Given the description of an element on the screen output the (x, y) to click on. 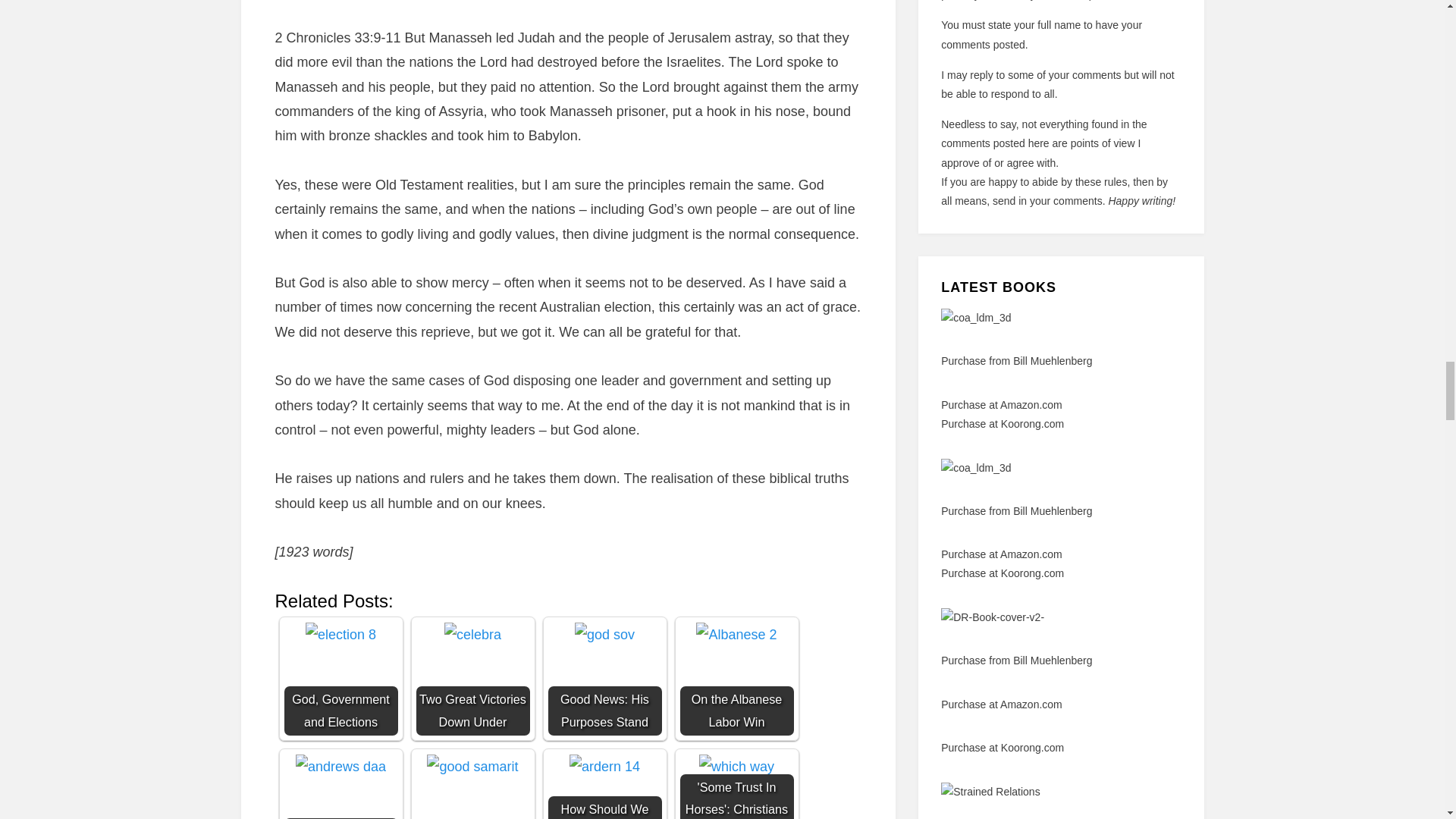
The Victorian Election (340, 786)
'Some Trust In Horses': Christians and Conservative Politics (736, 786)
On the Albanese Labor Win (735, 634)
Good News: His Purposes Stand (604, 634)
Good News: His Purposes Stand (604, 678)
Two Great Victories Down Under (471, 678)
'Some Trust In Horses': Christians and Conservative Politics (736, 766)
On Intervention (472, 766)
Two Great Victories Down Under (472, 634)
God, Government and Elections (340, 634)
The Victorian Election (340, 766)
On the Albanese Labor Win (736, 678)
God, Government and Elections (340, 678)
On Intervention (471, 786)
